Given the description of an element on the screen output the (x, y) to click on. 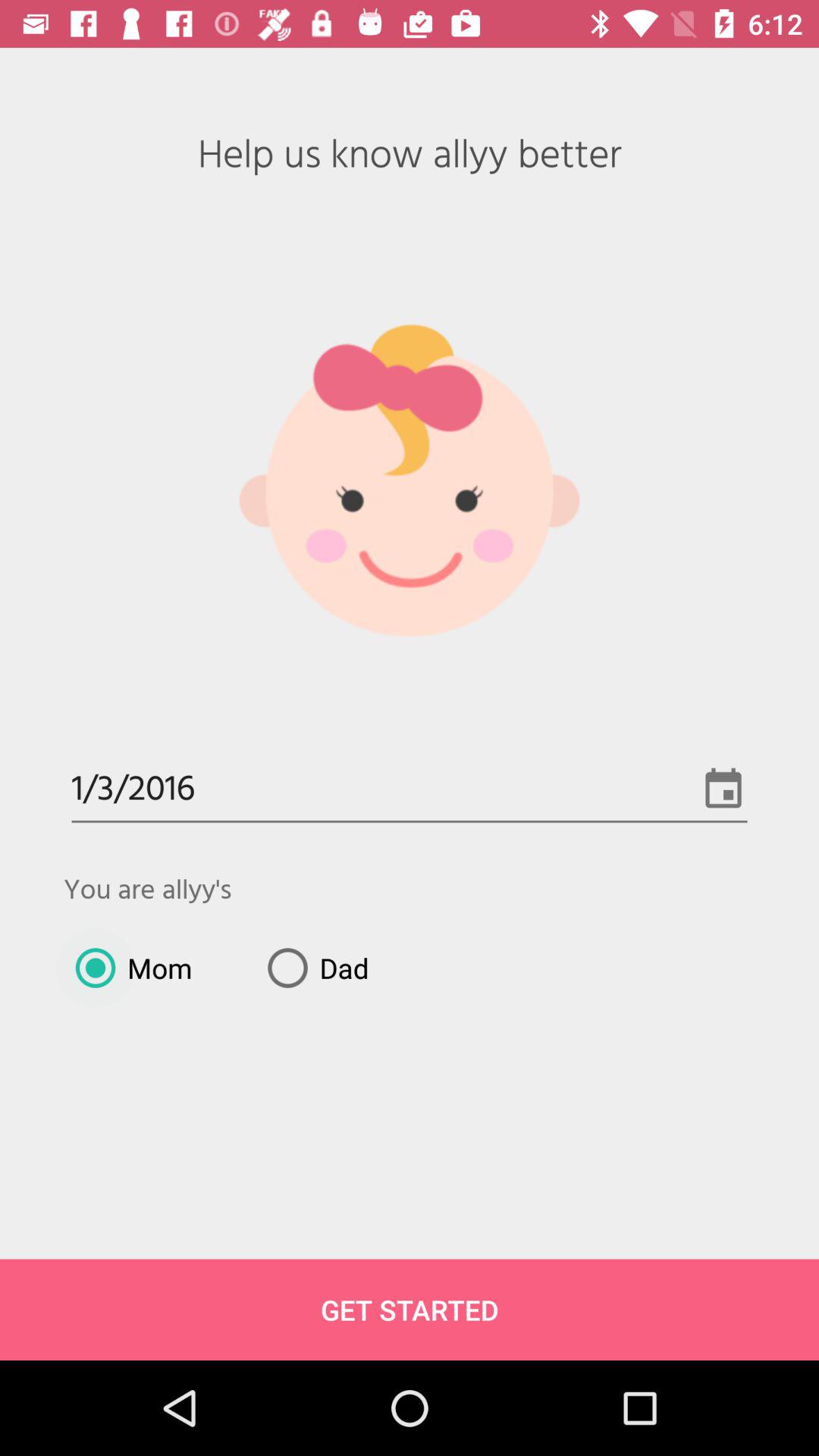
select the item below the you are allyy (312, 967)
